Given the description of an element on the screen output the (x, y) to click on. 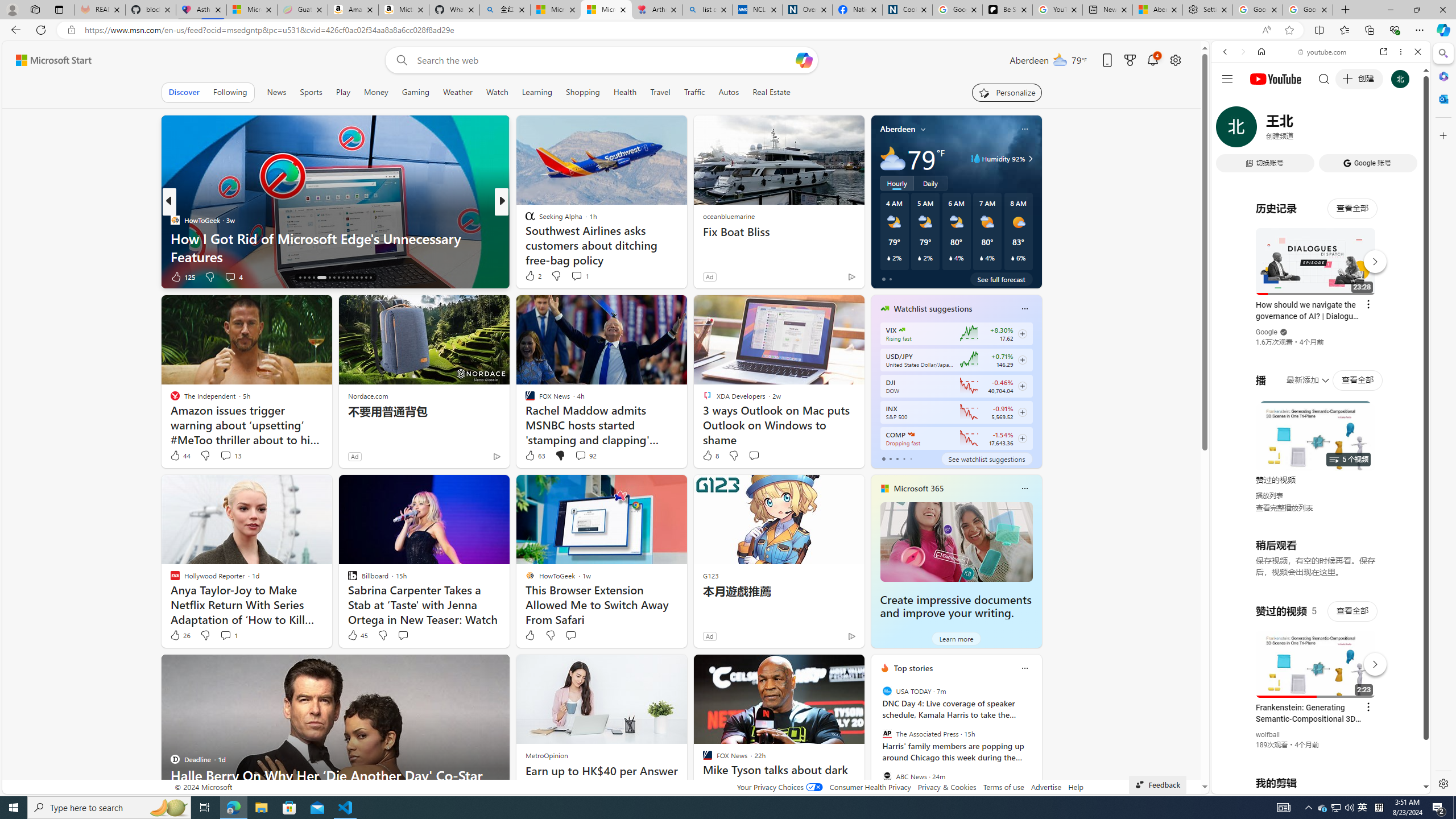
Mostly cloudy (892, 158)
22 Like (530, 276)
AutomationID: tab-26 (352, 277)
Complicated app settings are a threat to user privacy (684, 256)
